Given the description of an element on the screen output the (x, y) to click on. 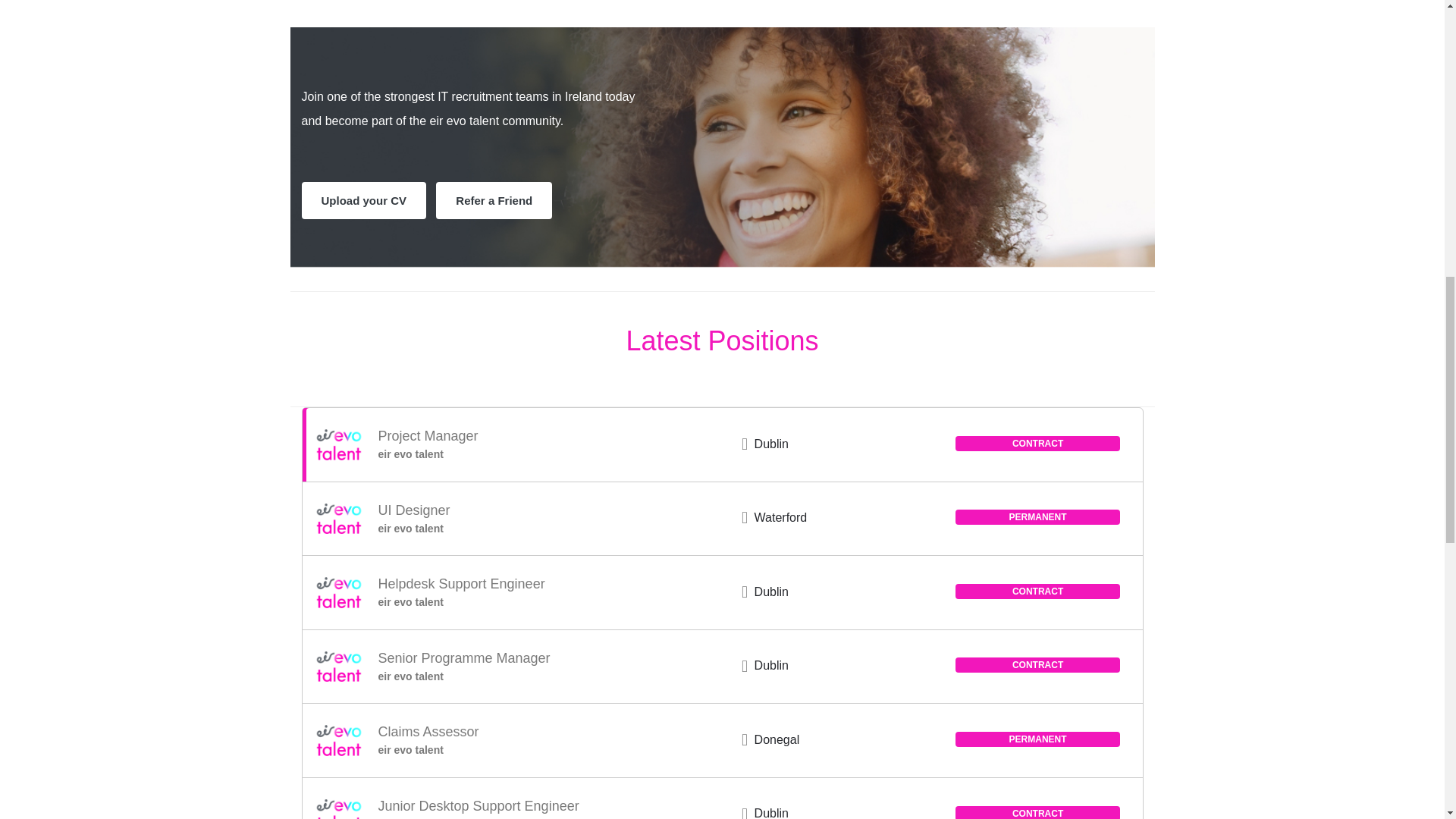
Dublin (771, 443)
Refer a Friend (493, 200)
Upload your CV (363, 200)
Dublin (771, 591)
Dublin (771, 665)
Waterford (781, 517)
Donegal (776, 739)
Latest Positions (722, 340)
Dublin (771, 812)
